Given the description of an element on the screen output the (x, y) to click on. 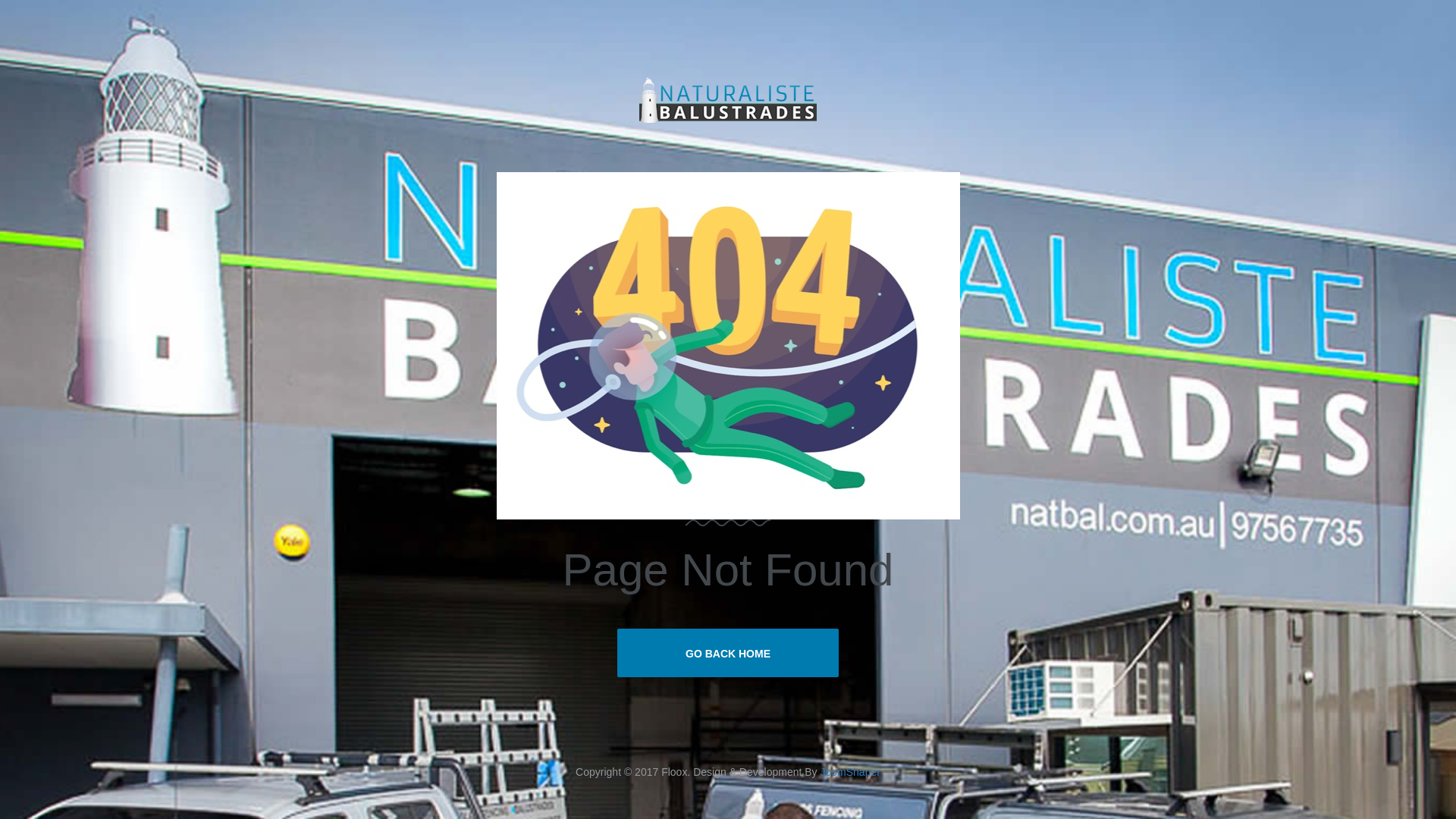
JoomShaper Element type: text (849, 771)
GO BACK HOME Element type: text (727, 652)
